Given the description of an element on the screen output the (x, y) to click on. 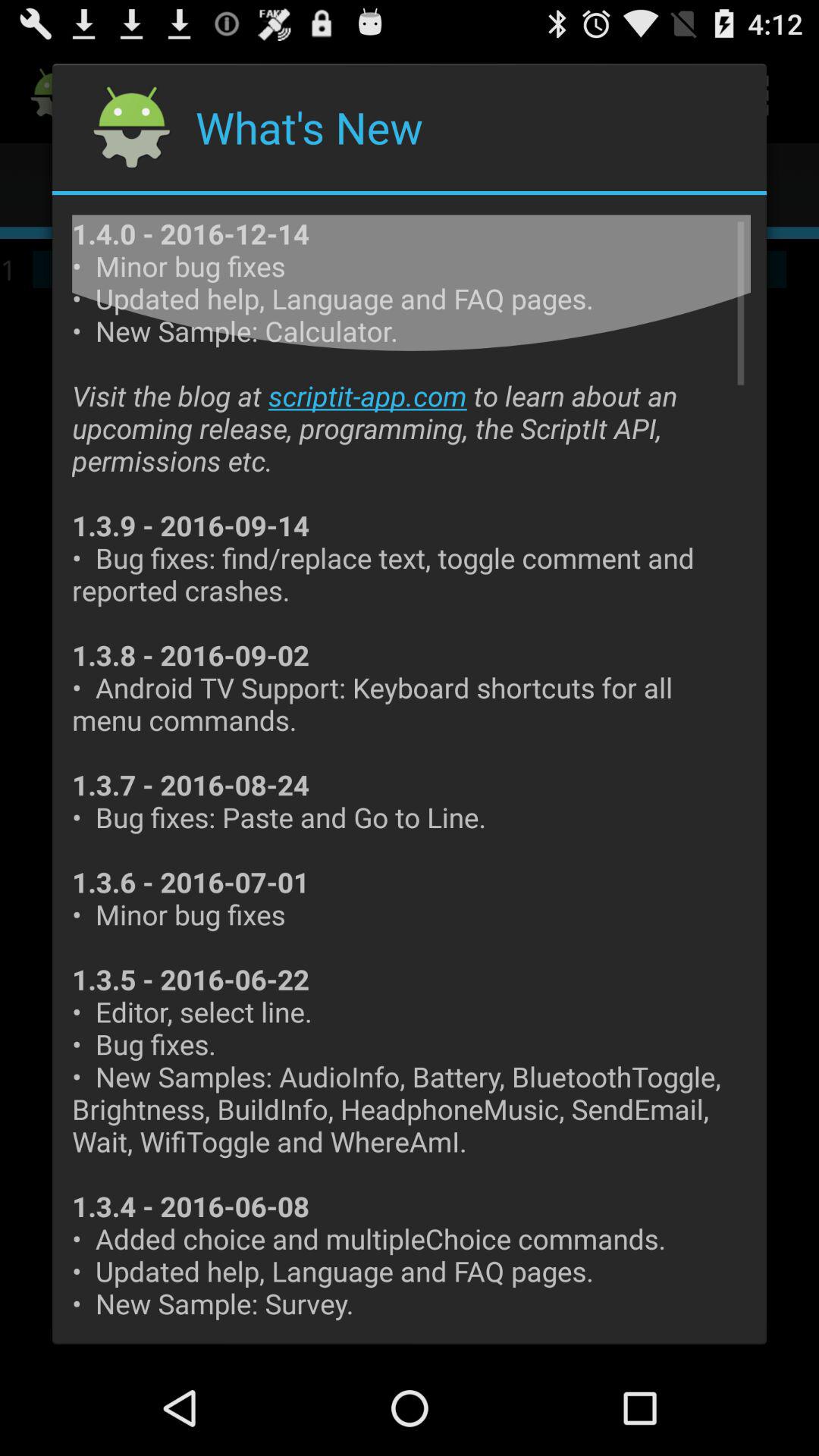
press the 1 4 0 item (411, 769)
